Given the description of an element on the screen output the (x, y) to click on. 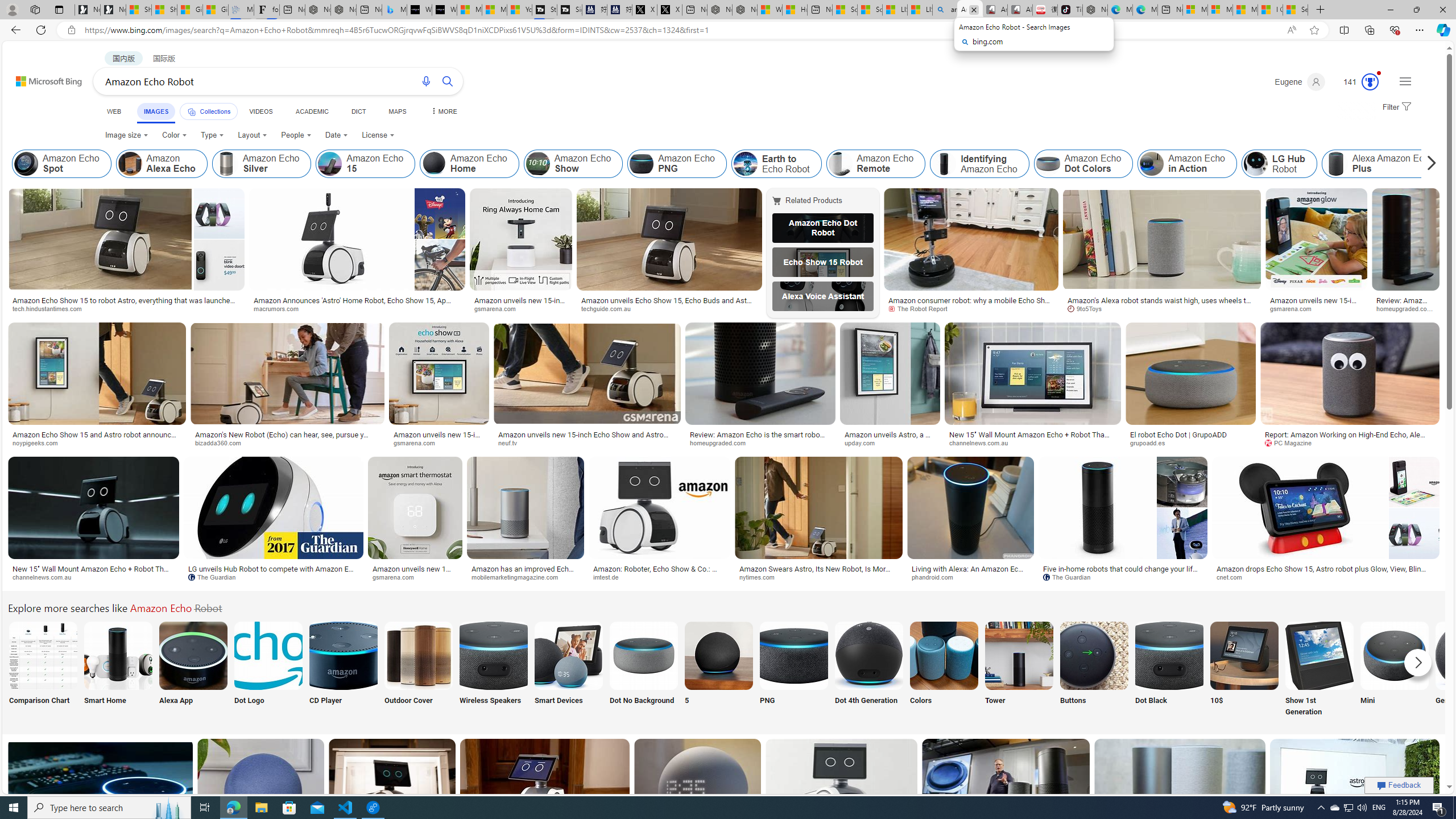
Amazon Echo 10 10$ (1243, 669)
IMAGES (156, 112)
CD Player (342, 669)
Color (173, 135)
10$ (1243, 669)
Date (336, 135)
imtest.de (609, 576)
Alexa App. Amazon Echo Alexa App (192, 669)
Amazon Echo Colors (944, 654)
